Given the description of an element on the screen output the (x, y) to click on. 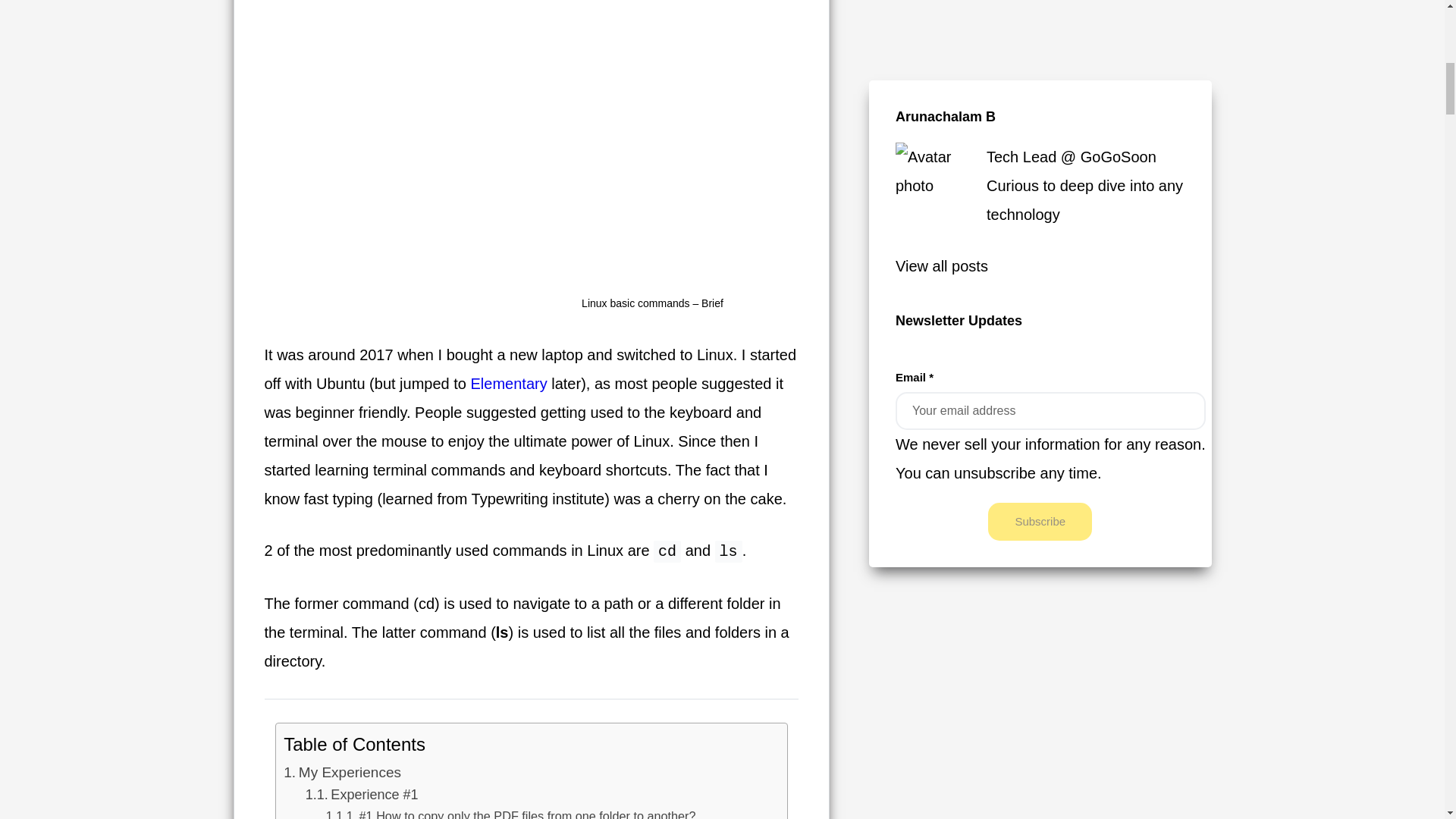
My Experiences (342, 772)
Elementary (508, 383)
My Experiences (342, 772)
